Given the description of an element on the screen output the (x, y) to click on. 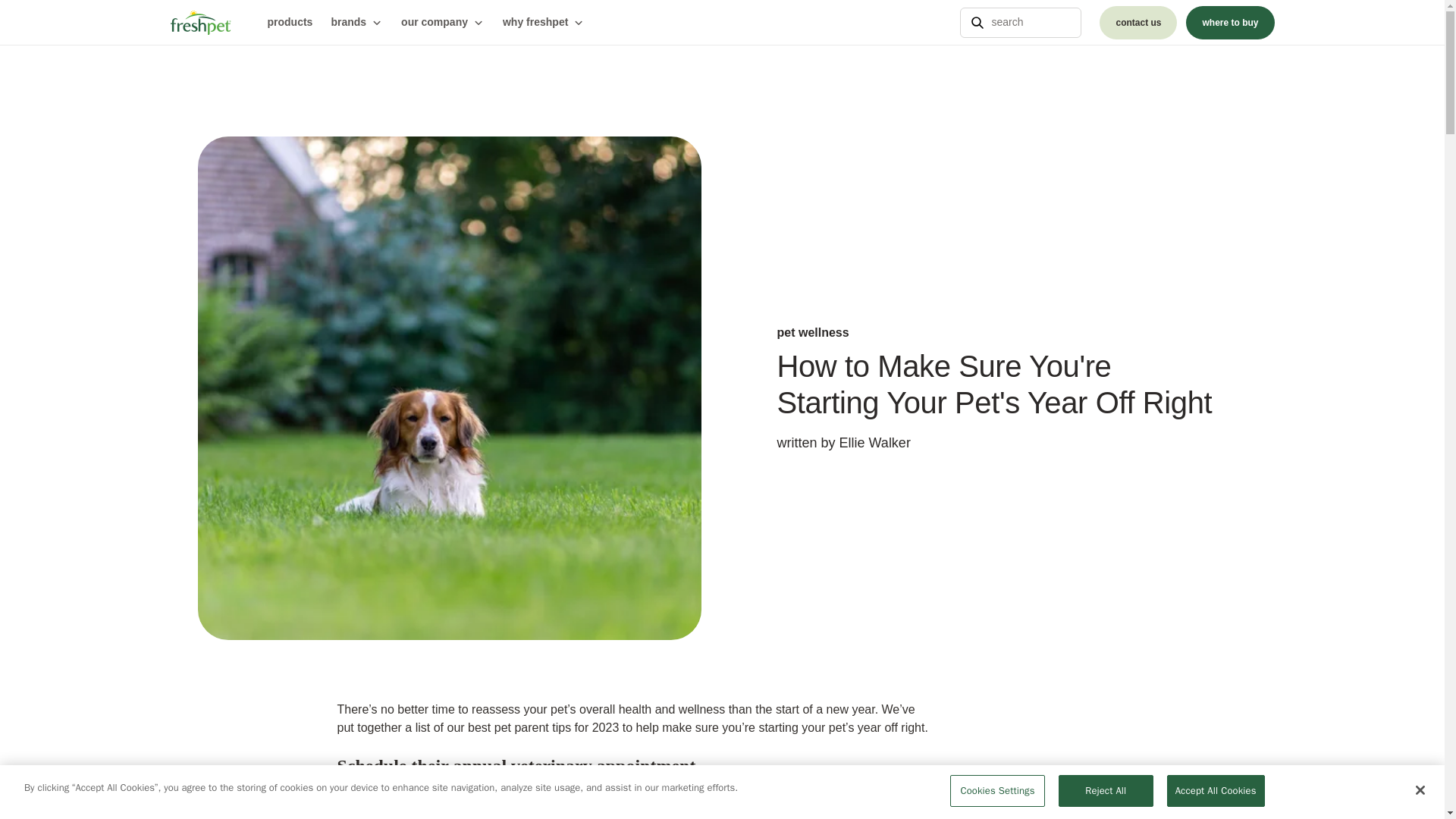
where to buy (1230, 22)
contact us (1137, 22)
our company (442, 22)
products (289, 22)
brands (356, 22)
search (1020, 22)
why freshpet (543, 22)
